Given the description of an element on the screen output the (x, y) to click on. 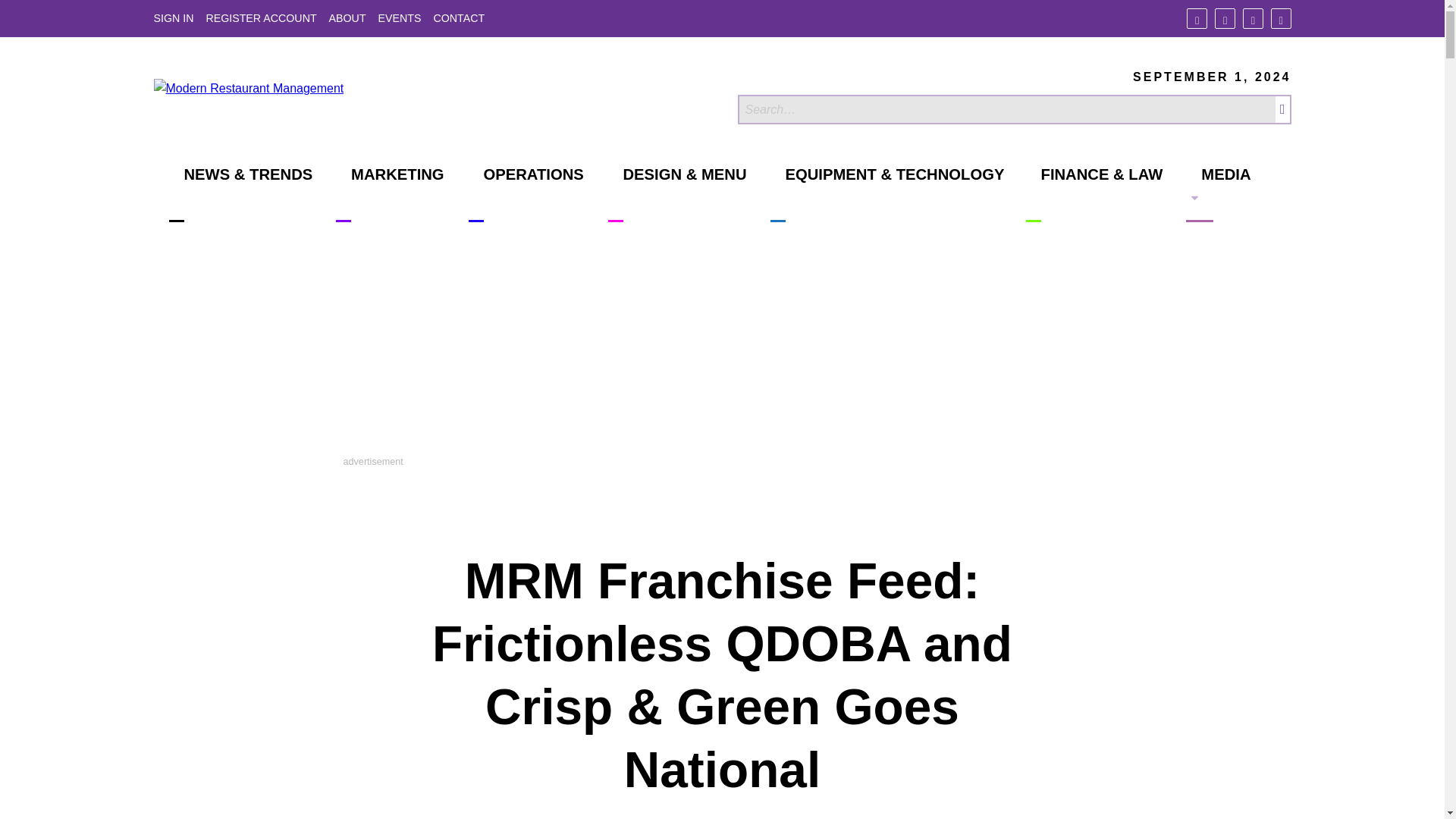
SIGN IN (172, 18)
Twitter (1224, 18)
MEDIA (1218, 193)
Facebook (1196, 18)
Linkedin (1253, 18)
Search (1005, 109)
EVENTS (400, 18)
CONTACT (458, 18)
Youtube (1281, 18)
MARKETING (390, 193)
